Given the description of an element on the screen output the (x, y) to click on. 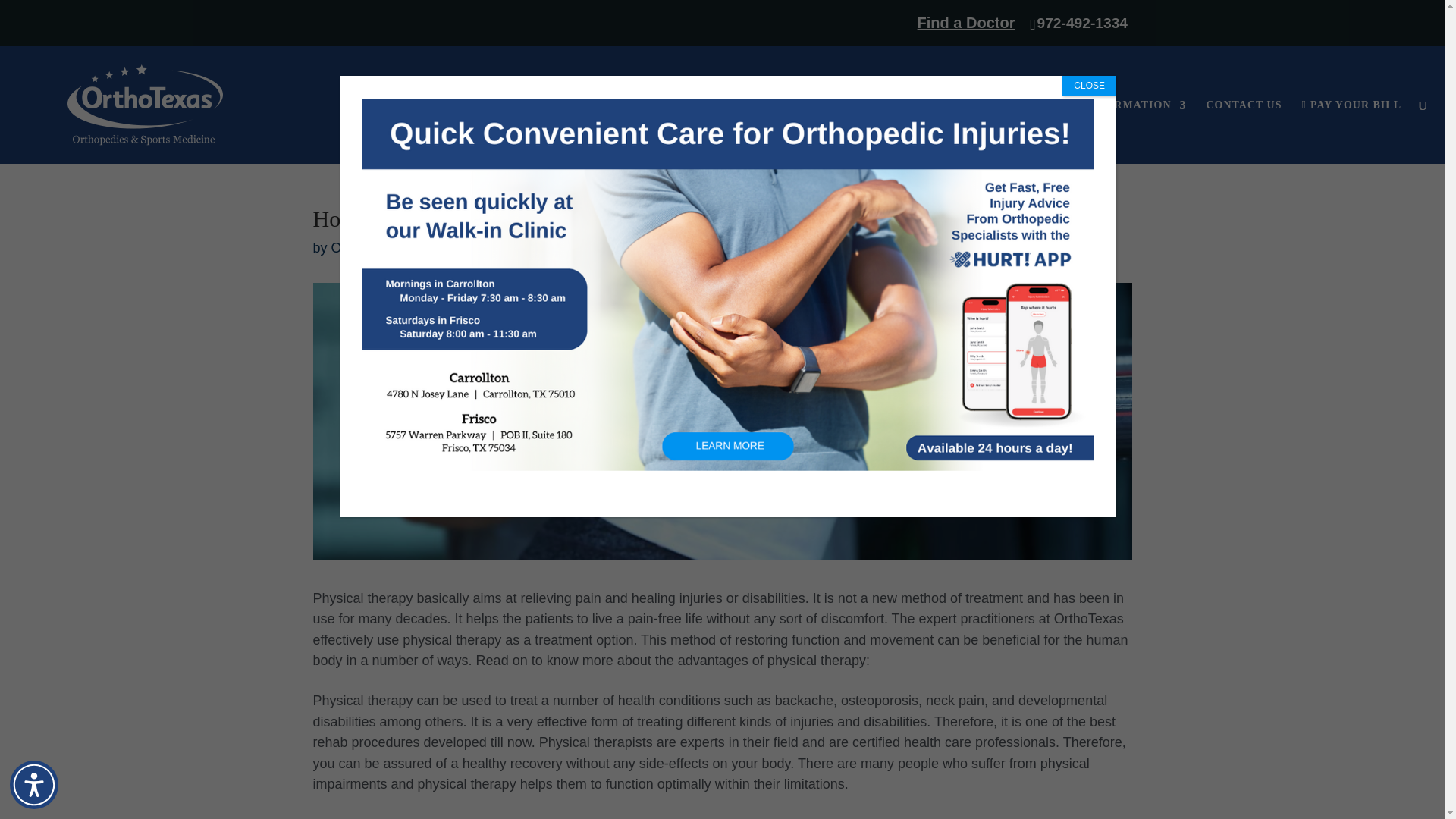
Find a Doctor (908, 28)
SPECIALTIES (910, 131)
ABOUT (815, 131)
Accessibility Menu (34, 784)
CONTACT US (1243, 131)
PATIENT INFORMATION (1108, 131)
Posts by OrthoTexas (366, 247)
PAY YOUR BILL (1350, 131)
